Given the description of an element on the screen output the (x, y) to click on. 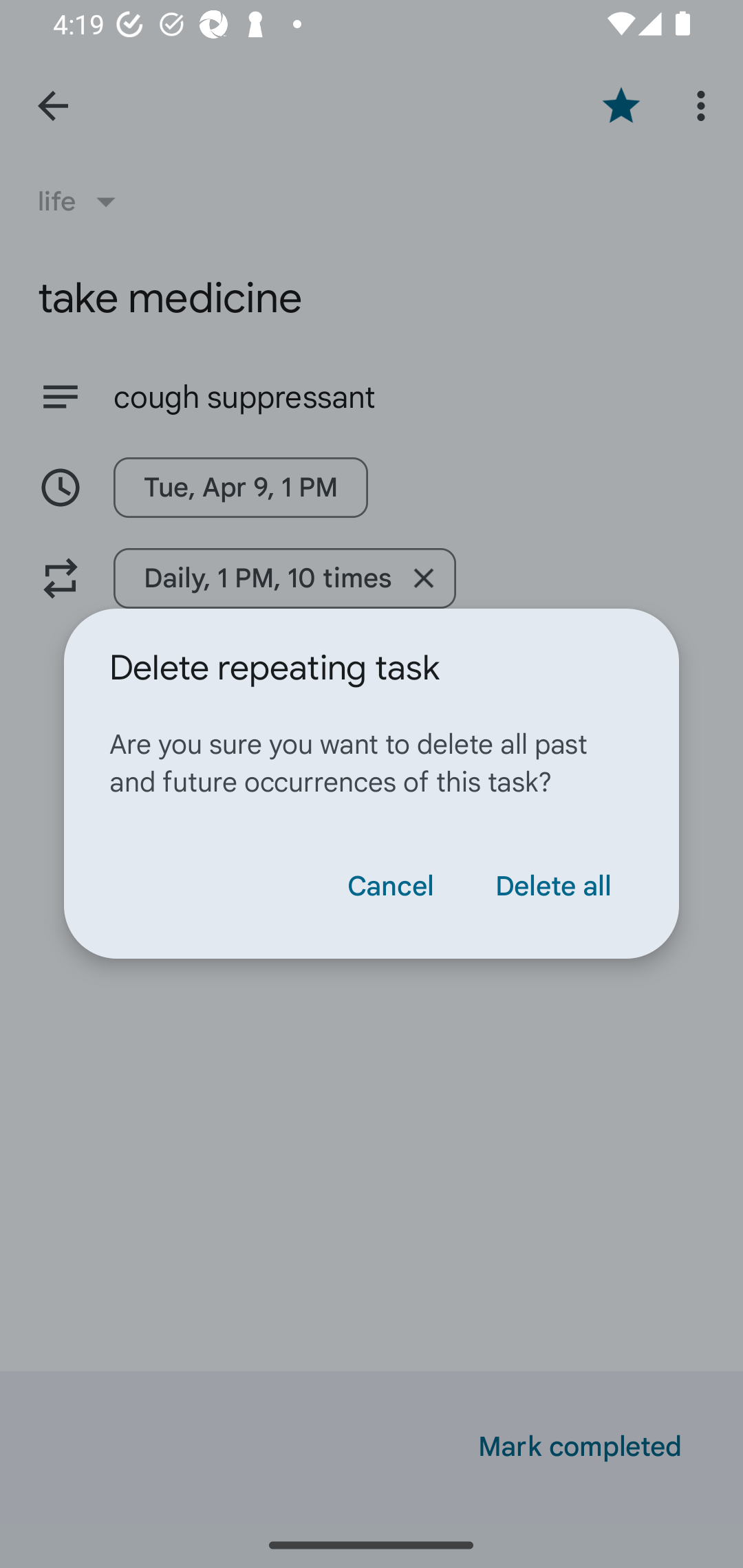
Cancel (389, 885)
Delete all (552, 885)
